Given the description of an element on the screen output the (x, y) to click on. 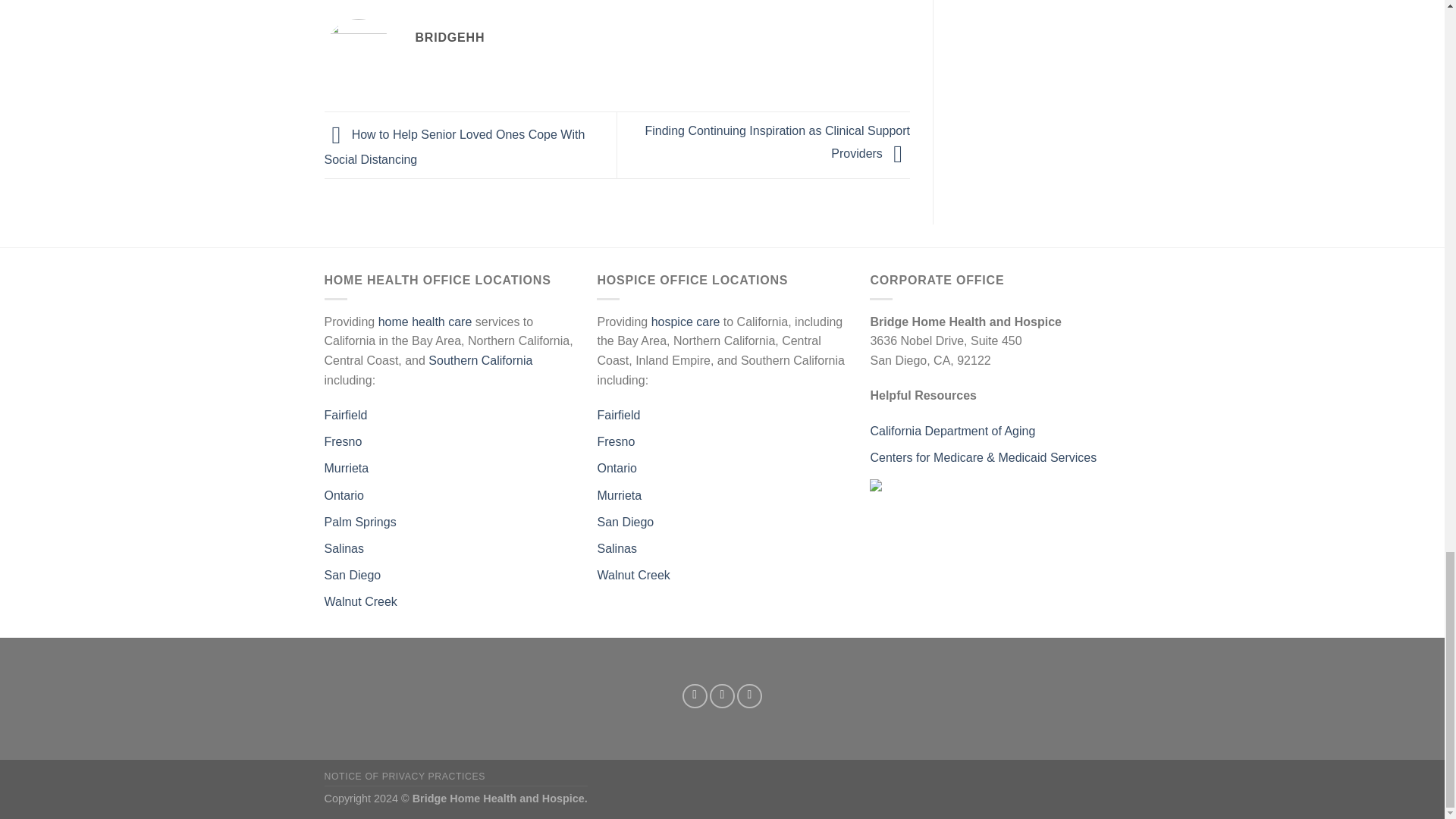
Follow on Instagram (722, 696)
How to Help Senior Loved Ones Cope With Social Distancing (454, 146)
Follow on Facebook (694, 696)
Finding Continuing Inspiration as Clinical Support Providers (777, 142)
Follow on LinkedIn (748, 696)
